Given the description of an element on the screen output the (x, y) to click on. 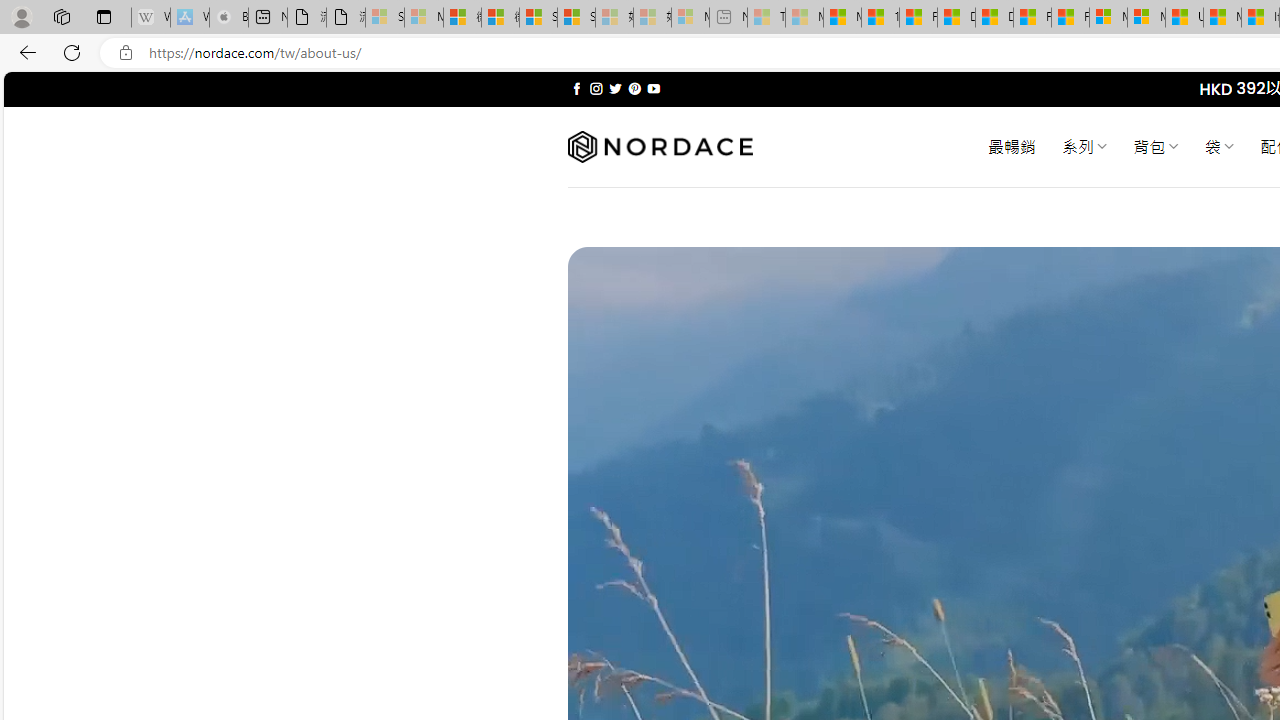
Marine life - MSN - Sleeping (804, 17)
Top Stories - MSN - Sleeping (765, 17)
